Given the description of an element on the screen output the (x, y) to click on. 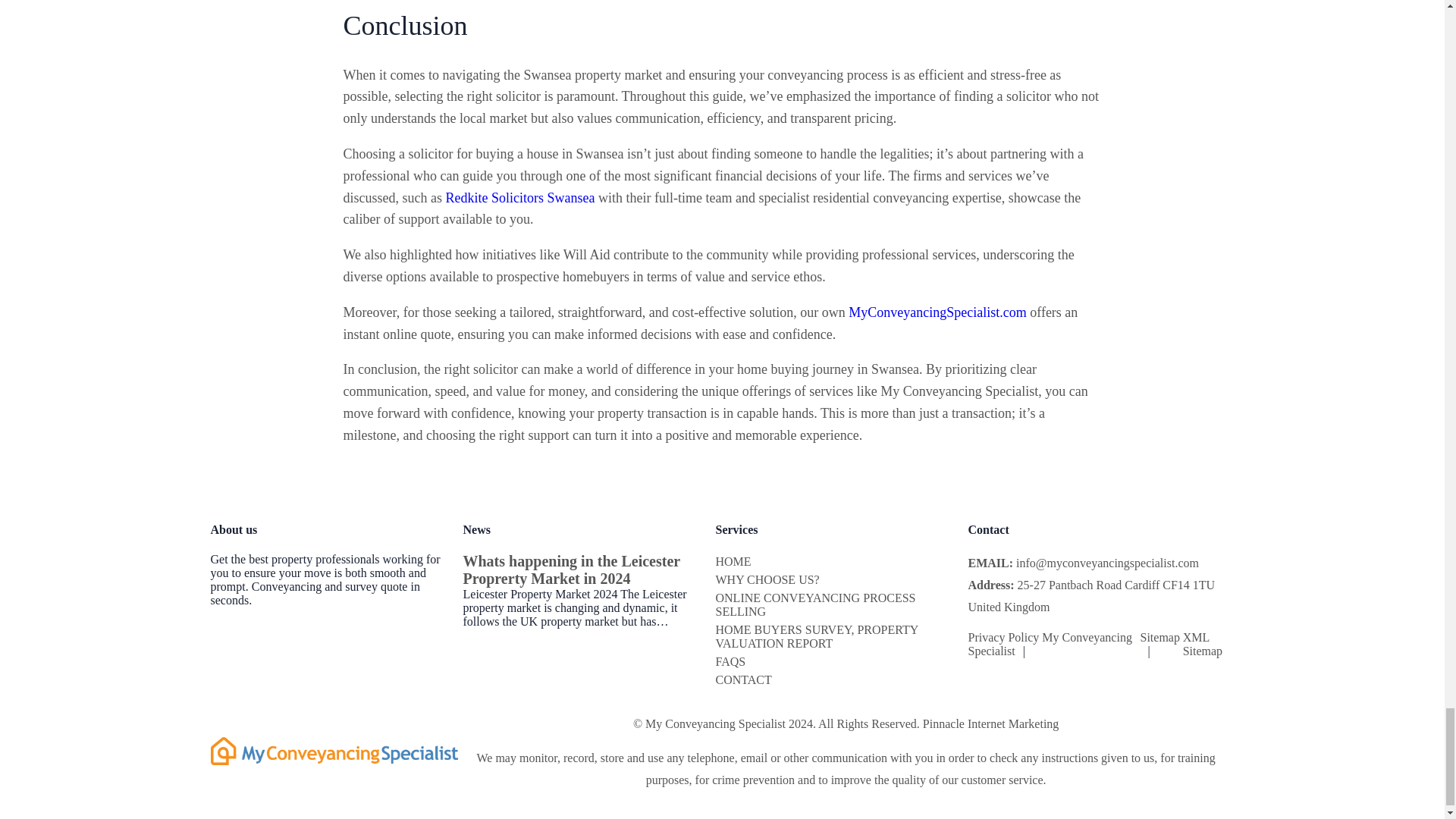
HOME BUYERS SURVEY, PROPERTY VALUATION REPORT (817, 636)
FAQS (730, 661)
Whats happening in the Leicester Proprerty Market in 2024 (571, 569)
Pinnacle Internet Marketing (991, 723)
XML Sitemap (1202, 643)
CONTACT (743, 679)
MyConveyancingSpecialist.com (937, 312)
Sitemap (1159, 636)
ONLINE CONVEYANCING PROCESS SELLING (815, 604)
HOME (733, 561)
WHY CHOOSE US? (767, 579)
News (476, 529)
Privacy Policy My Conveyancing Specialist (1049, 643)
Redkite Solicitors Swansea (519, 197)
